Given the description of an element on the screen output the (x, y) to click on. 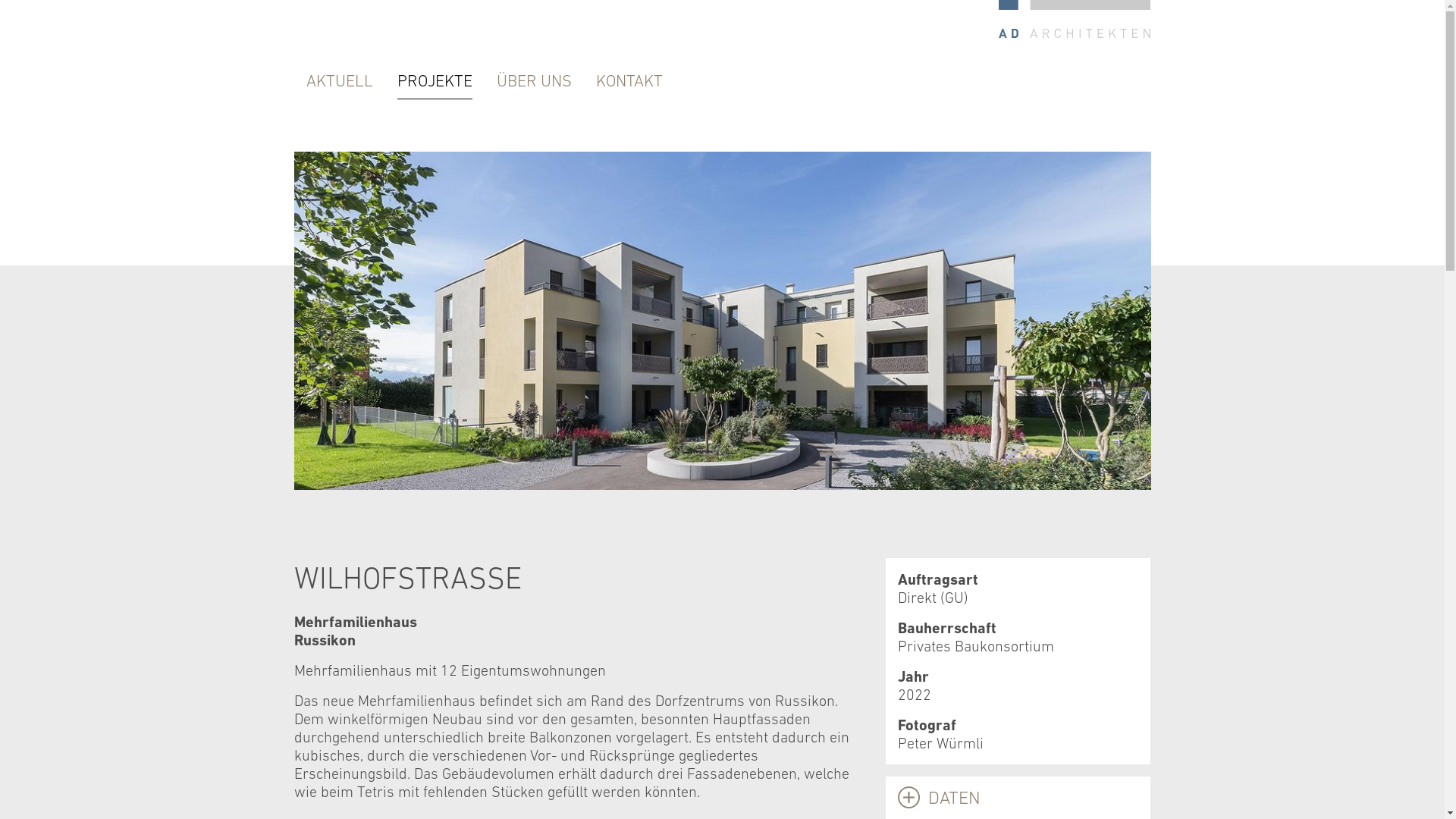
AKTUELL Element type: text (339, 80)
DATEN Element type: text (1018, 797)
PROJEKTE Element type: text (434, 81)
KONTAKT Element type: text (629, 80)
